Given the description of an element on the screen output the (x, y) to click on. 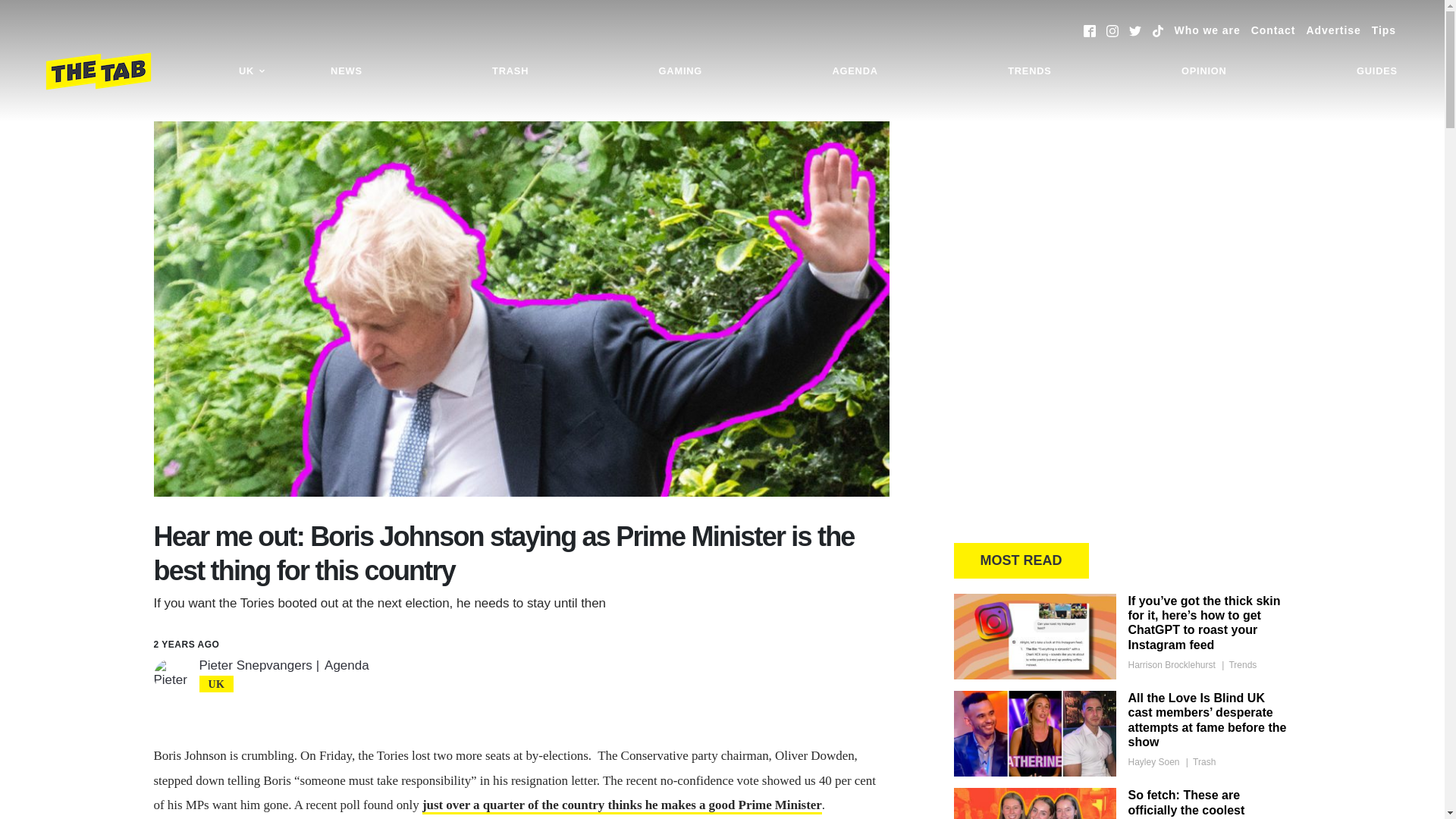
GUIDES (1377, 71)
OPINION (1204, 71)
Who we are (1207, 29)
Contact (1272, 29)
TRASH (510, 71)
UK (252, 71)
TRENDS (1028, 71)
NEWS (346, 71)
Advertise (1332, 29)
Tips (1383, 29)
